Given the description of an element on the screen output the (x, y) to click on. 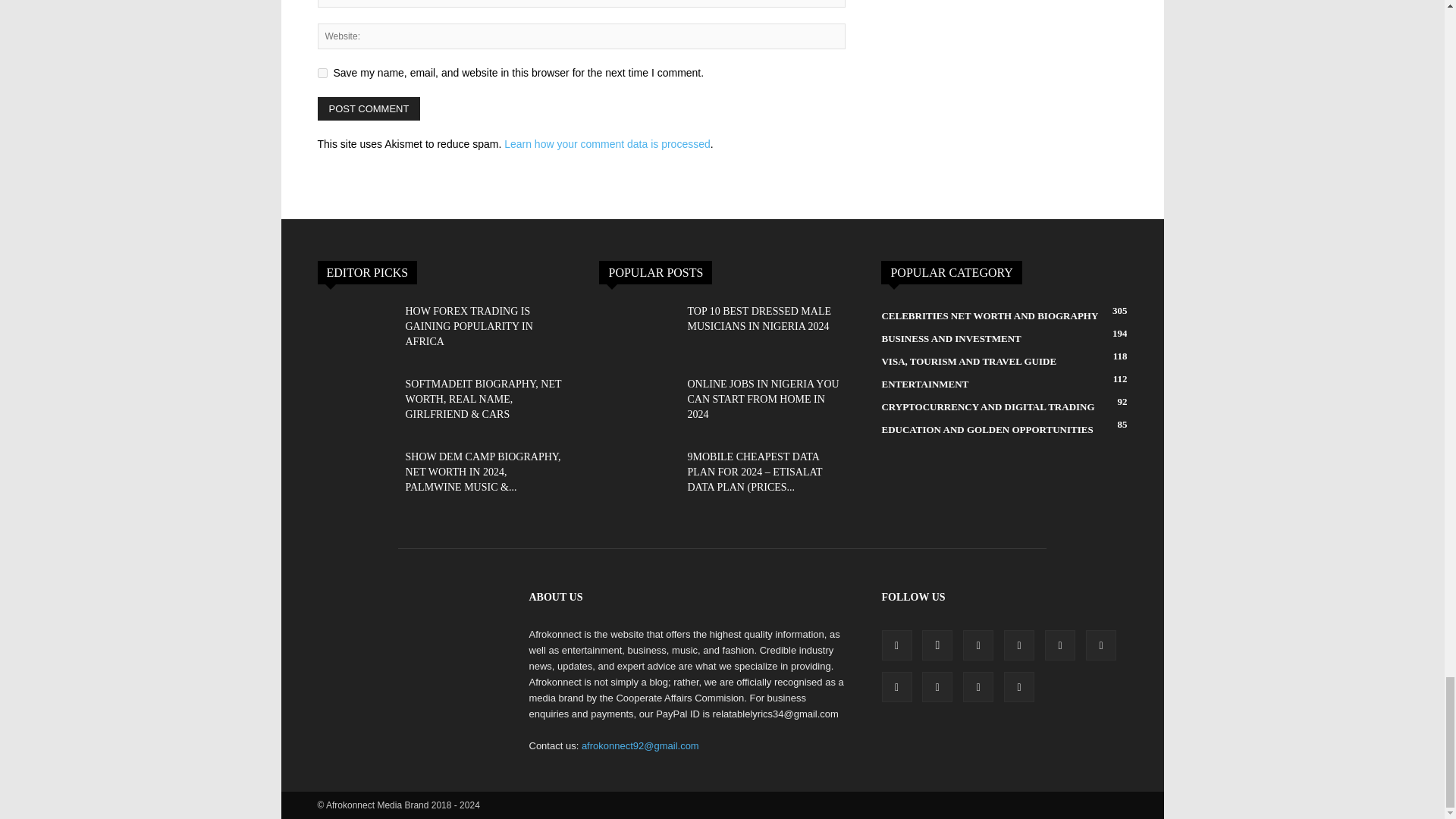
Post Comment (368, 108)
yes (321, 72)
